Given the description of an element on the screen output the (x, y) to click on. 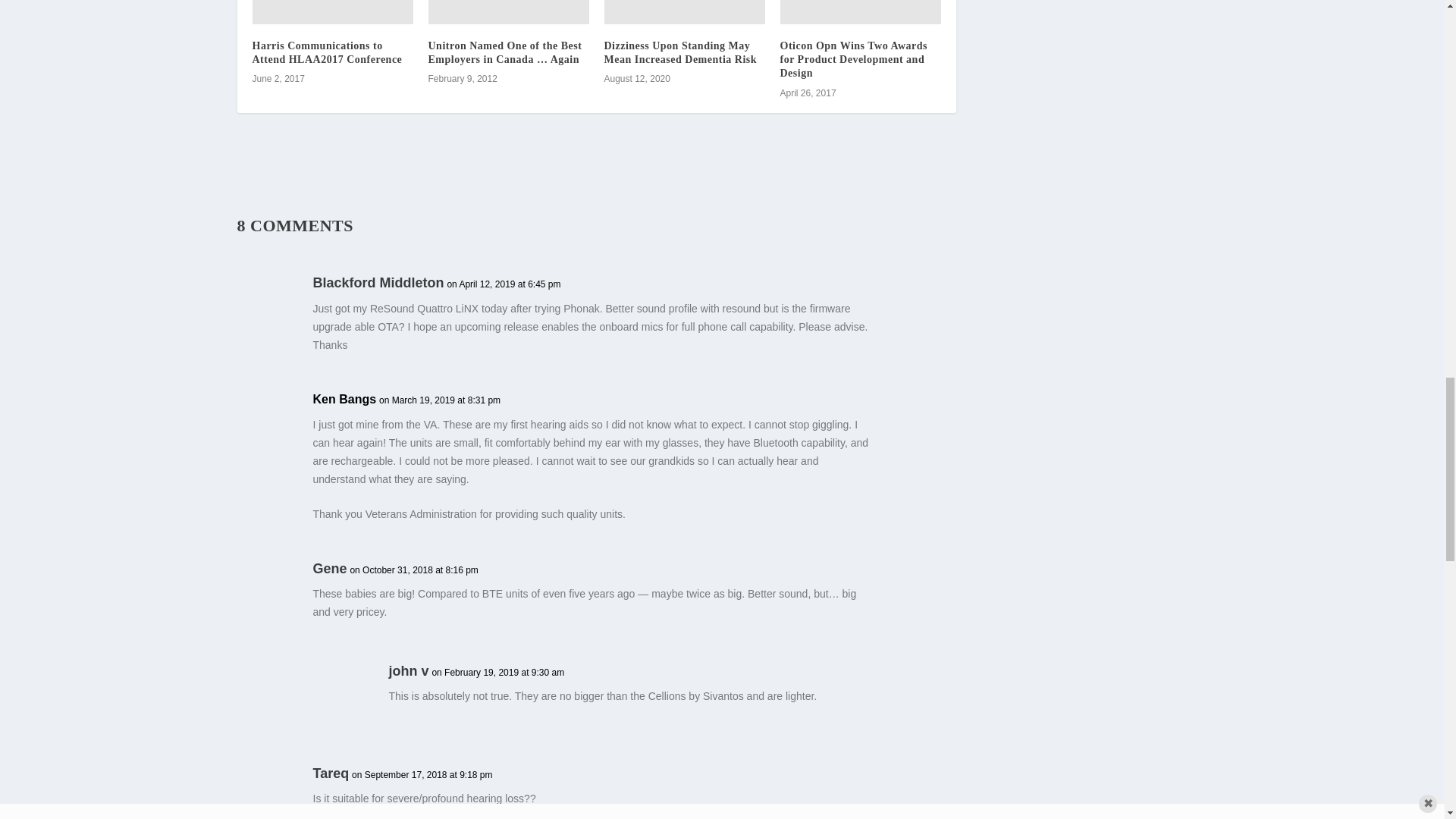
Dizziness Upon Standing May Mean Increased Dementia Risk (684, 12)
Harris Communications to Attend HLAA2017 Conference (331, 12)
